Given the description of an element on the screen output the (x, y) to click on. 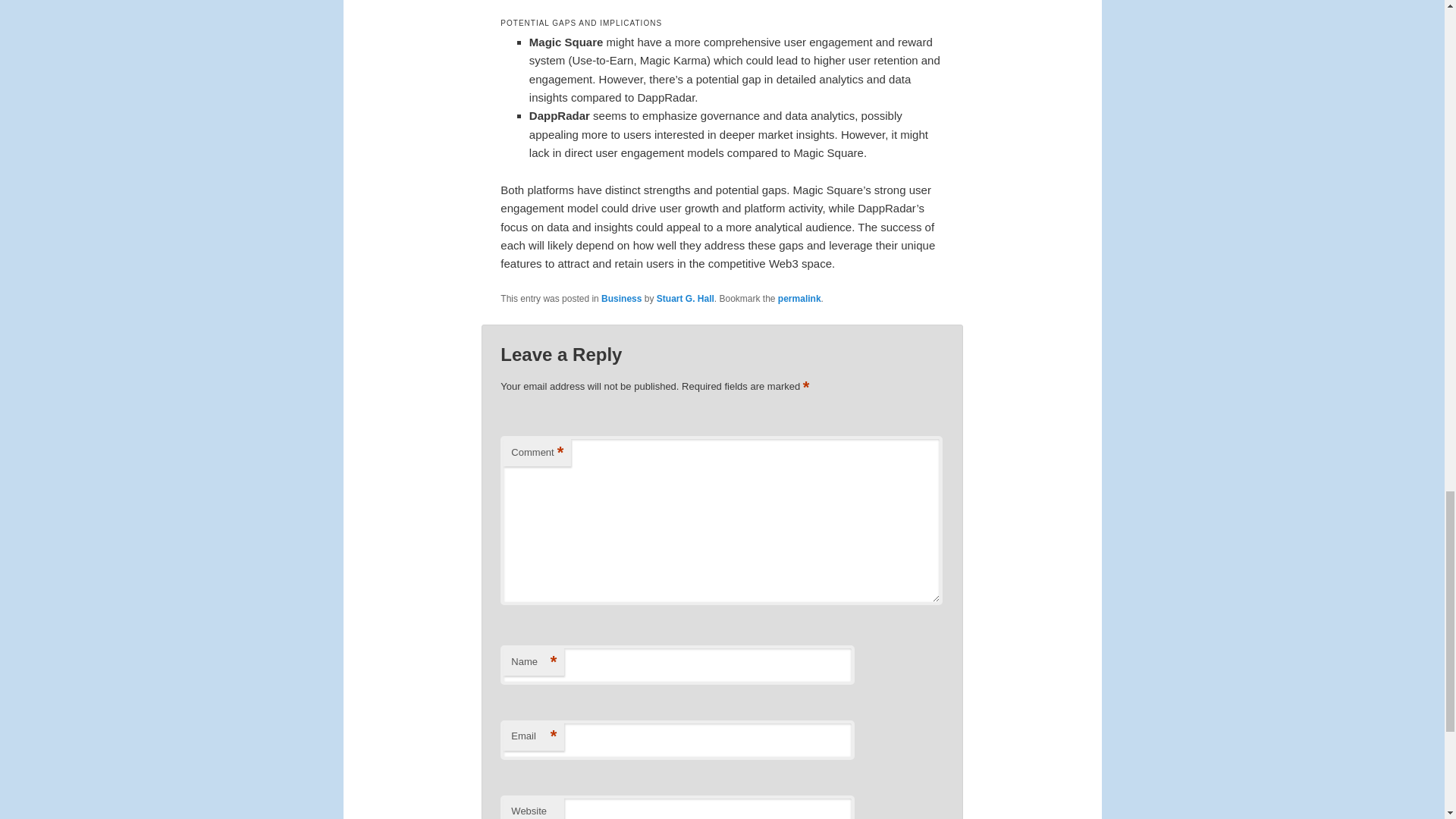
permalink (799, 298)
Stuart G. Hall (685, 298)
Business (621, 298)
